Given the description of an element on the screen output the (x, y) to click on. 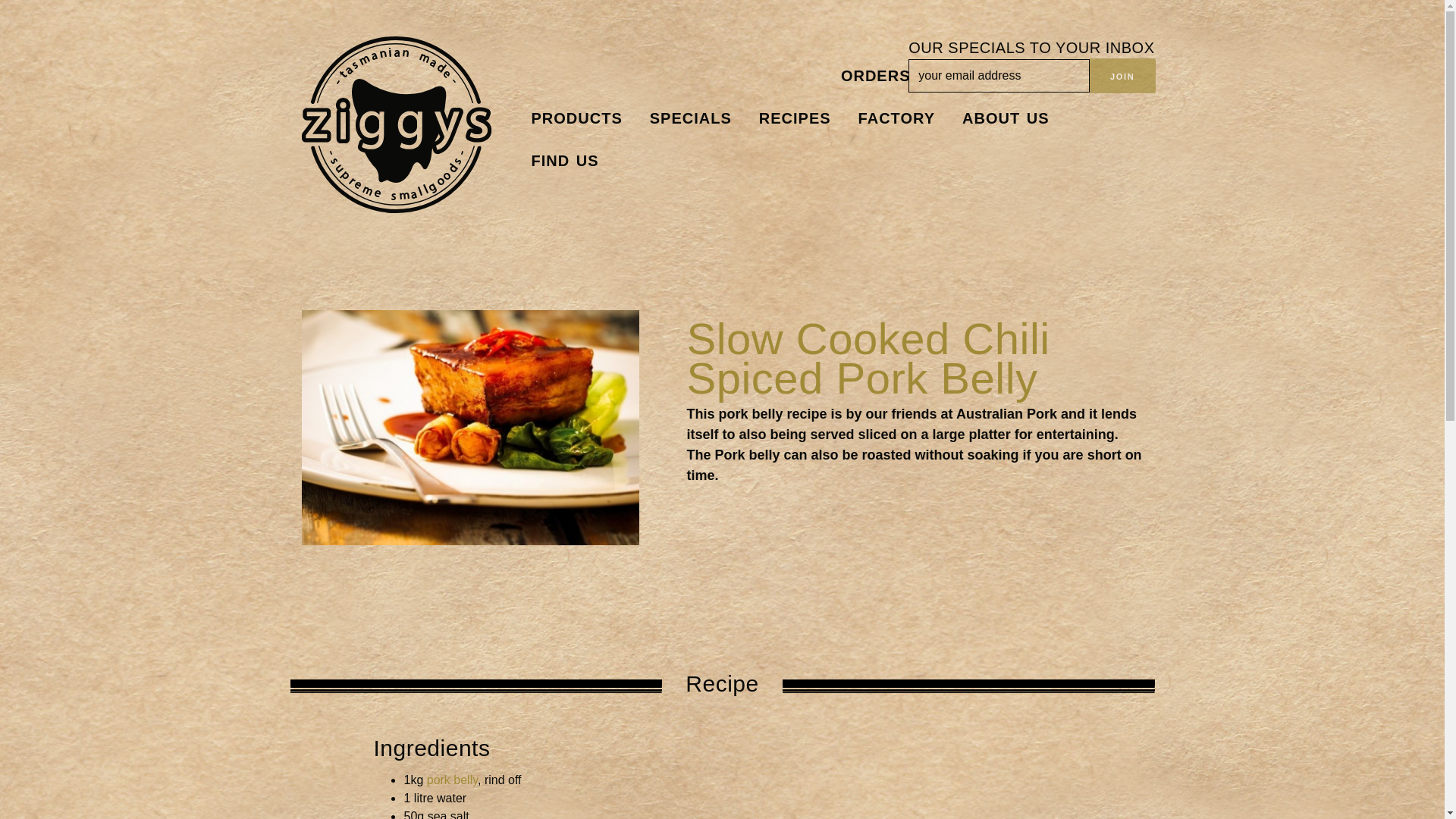
RECIPES (794, 118)
SPECIALS (690, 118)
JOIN (1121, 75)
PRODUCTS (575, 118)
pork belly (451, 779)
FIND US (563, 160)
FACTORY (896, 118)
ORDERS (875, 75)
ABOUT US (1005, 118)
